Given the description of an element on the screen output the (x, y) to click on. 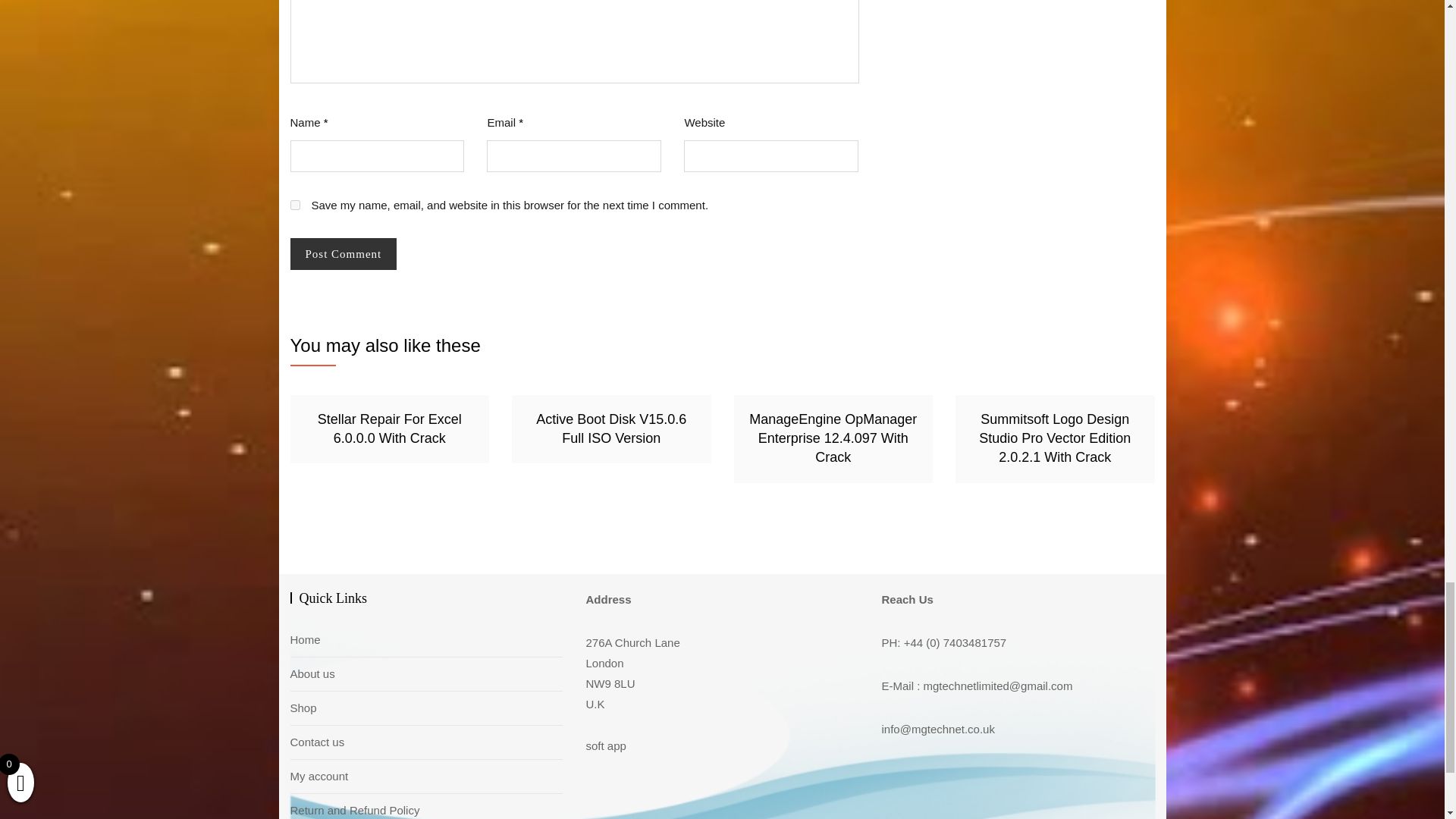
Post Comment (342, 254)
yes (294, 204)
